Given the description of an element on the screen output the (x, y) to click on. 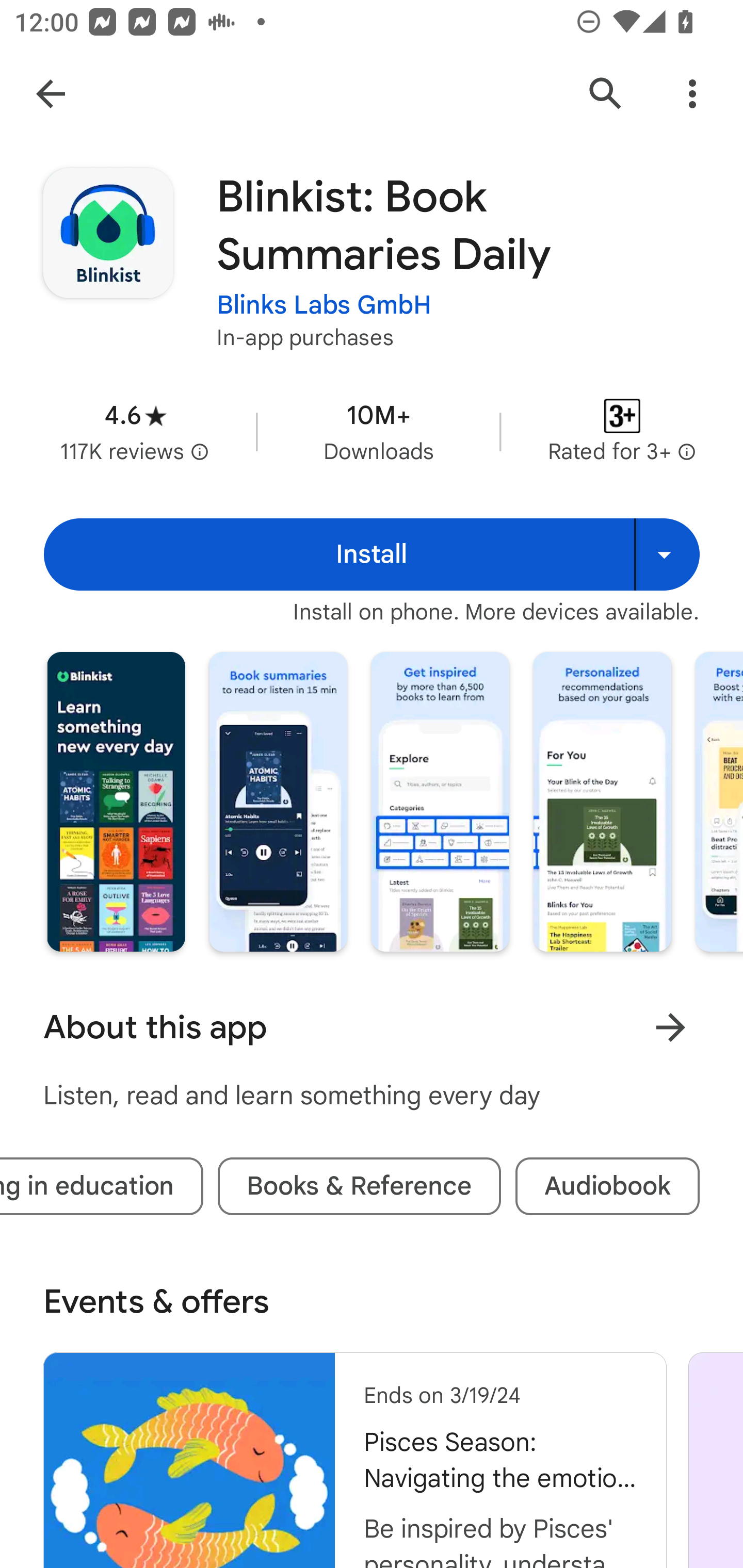
Navigate up (50, 93)
Search Google Play (605, 93)
More Options (692, 93)
Blinks Labs GmbH (323, 304)
Average rating 4.6 stars in 117 thousand reviews (135, 431)
Content rating Rated for 3+ (622, 431)
Install Install Install on more devices (371, 554)
Install on more devices (667, 554)
Screenshot "1" of "8" (115, 801)
Screenshot "2" of "8" (277, 801)
Screenshot "3" of "8" (439, 801)
Screenshot "4" of "8" (601, 801)
About this app Learn more About this app (371, 1027)
Learn more About this app (670, 1027)
#8 top grossing in education tag (101, 1186)
Books & Reference tag (358, 1186)
Audiobook tag (607, 1186)
